Given the description of an element on the screen output the (x, y) to click on. 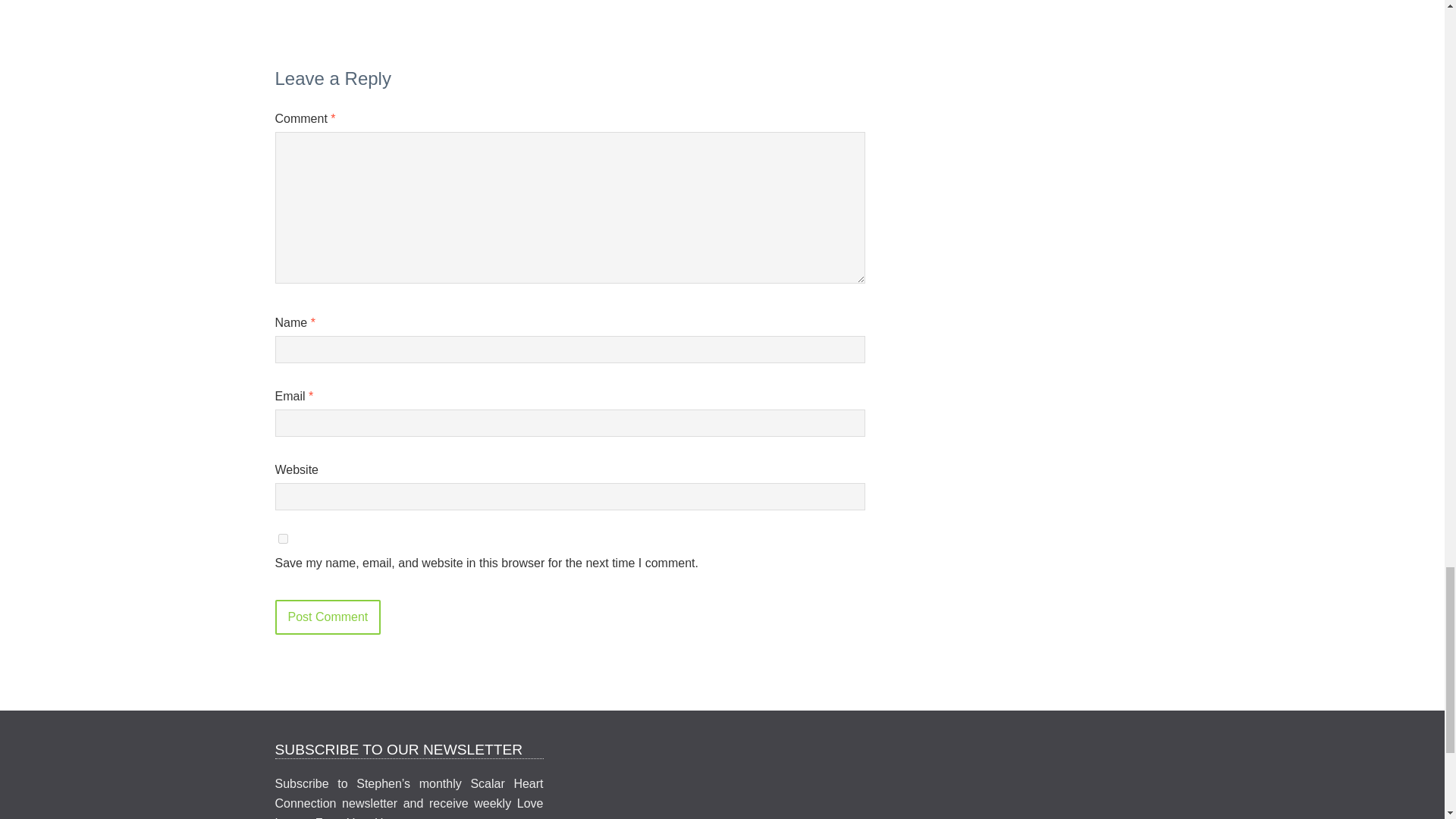
Post Comment (327, 616)
Post Comment (327, 616)
yes (282, 538)
